Given the description of an element on the screen output the (x, y) to click on. 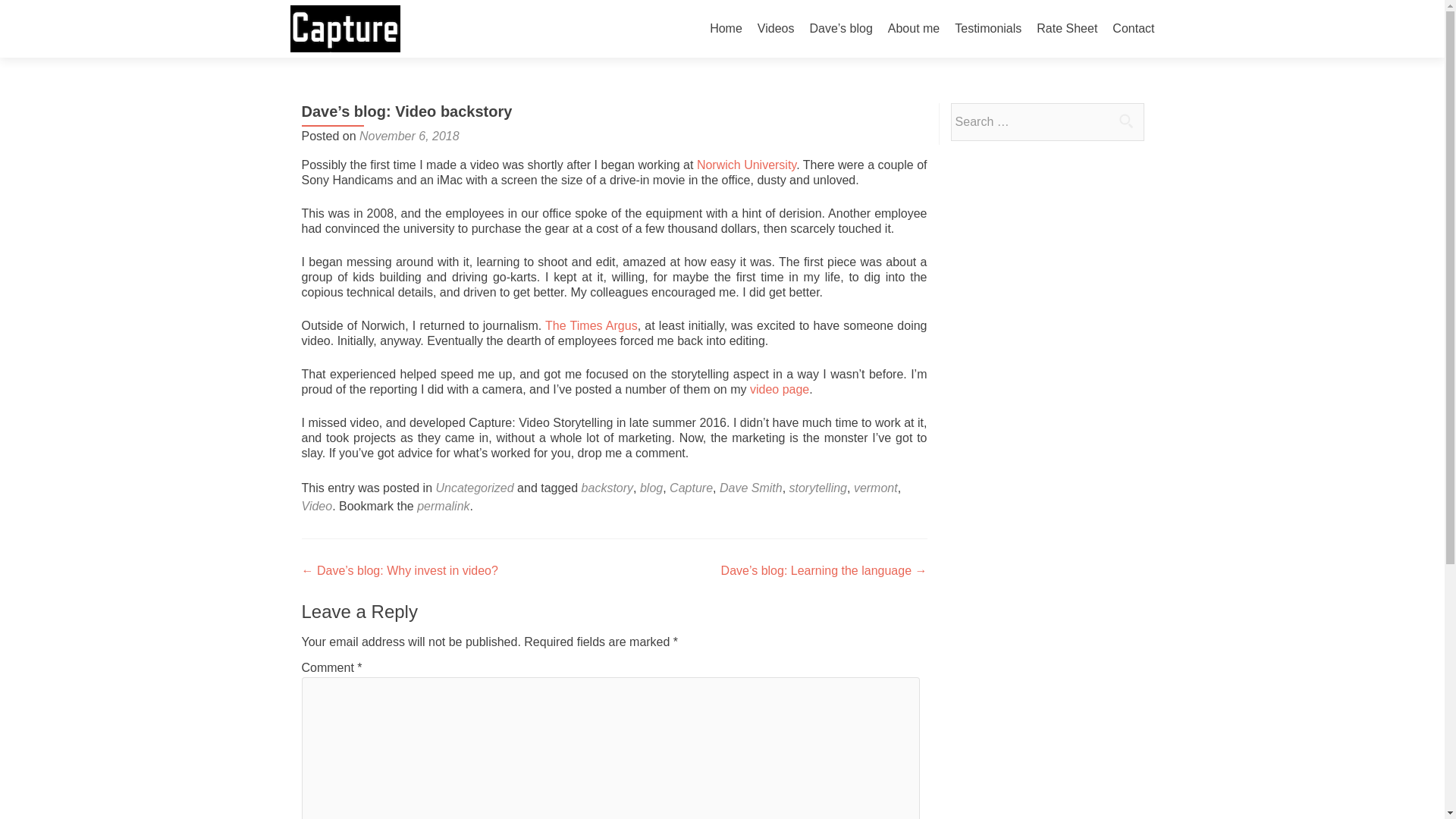
Dave Smith (751, 487)
November 6, 2018 (409, 135)
Video (317, 505)
backstory (606, 487)
Testimonials (988, 28)
storytelling (818, 487)
Search (1125, 120)
Norwich University (746, 164)
Capture (691, 487)
video page (779, 389)
